Given the description of an element on the screen output the (x, y) to click on. 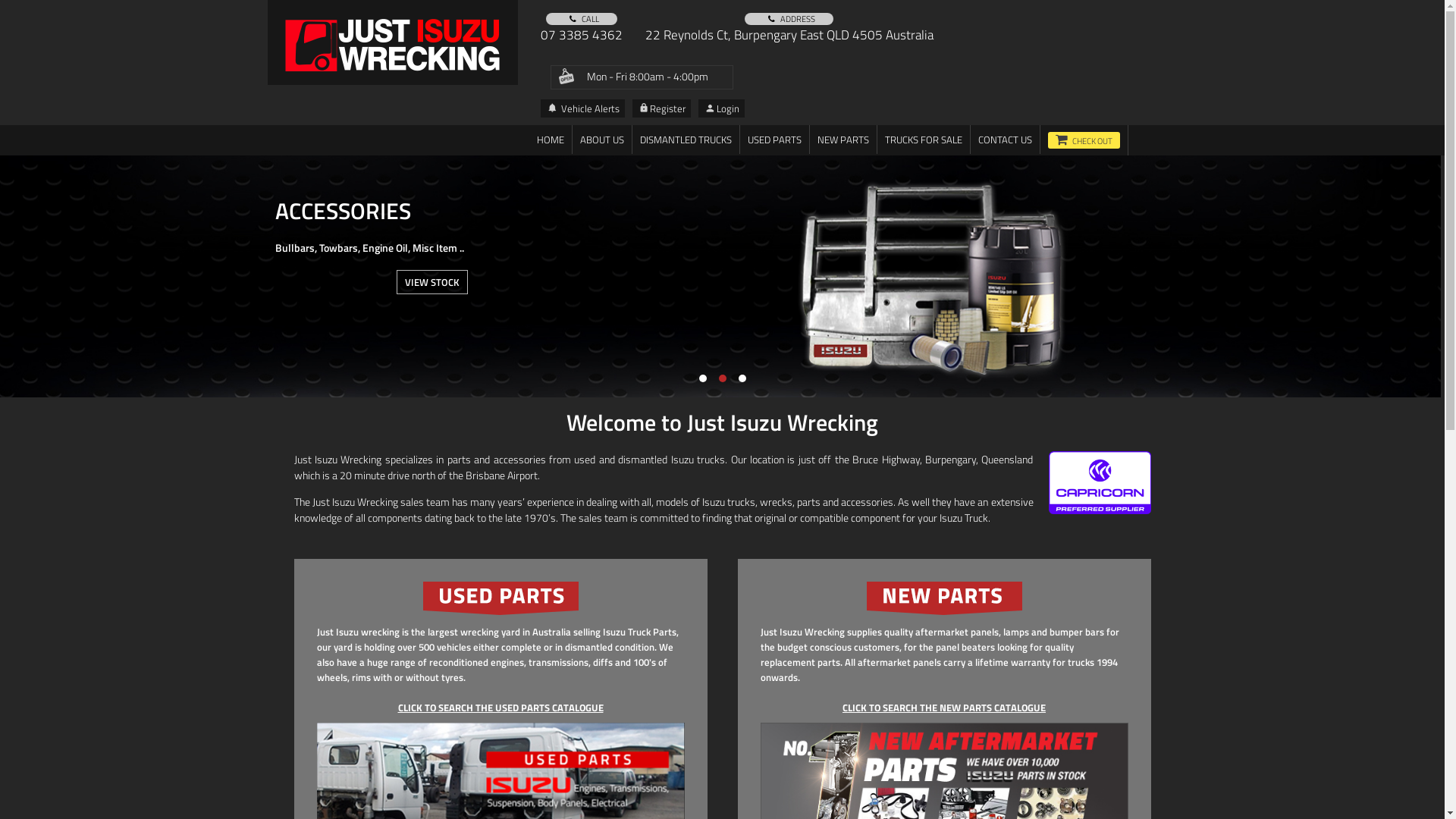
USED PARTS Element type: text (774, 139)
1 Element type: text (702, 378)
ABOUT US Element type: text (600, 139)
Login Element type: text (720, 108)
DISMANTLED TRUCKS Element type: text (685, 139)
TRUCKS FOR SALE Element type: text (922, 139)
2 Element type: text (722, 378)
VIEW STOCK Element type: text (431, 281)
Register Element type: text (661, 108)
CHECK OUT Element type: text (1083, 140)
Vehicle Alerts Element type: text (581, 108)
NEW PARTS Element type: text (842, 139)
HOME Element type: text (550, 139)
3 Element type: text (742, 378)
CONTACT US Element type: text (1004, 139)
